Given the description of an element on the screen output the (x, y) to click on. 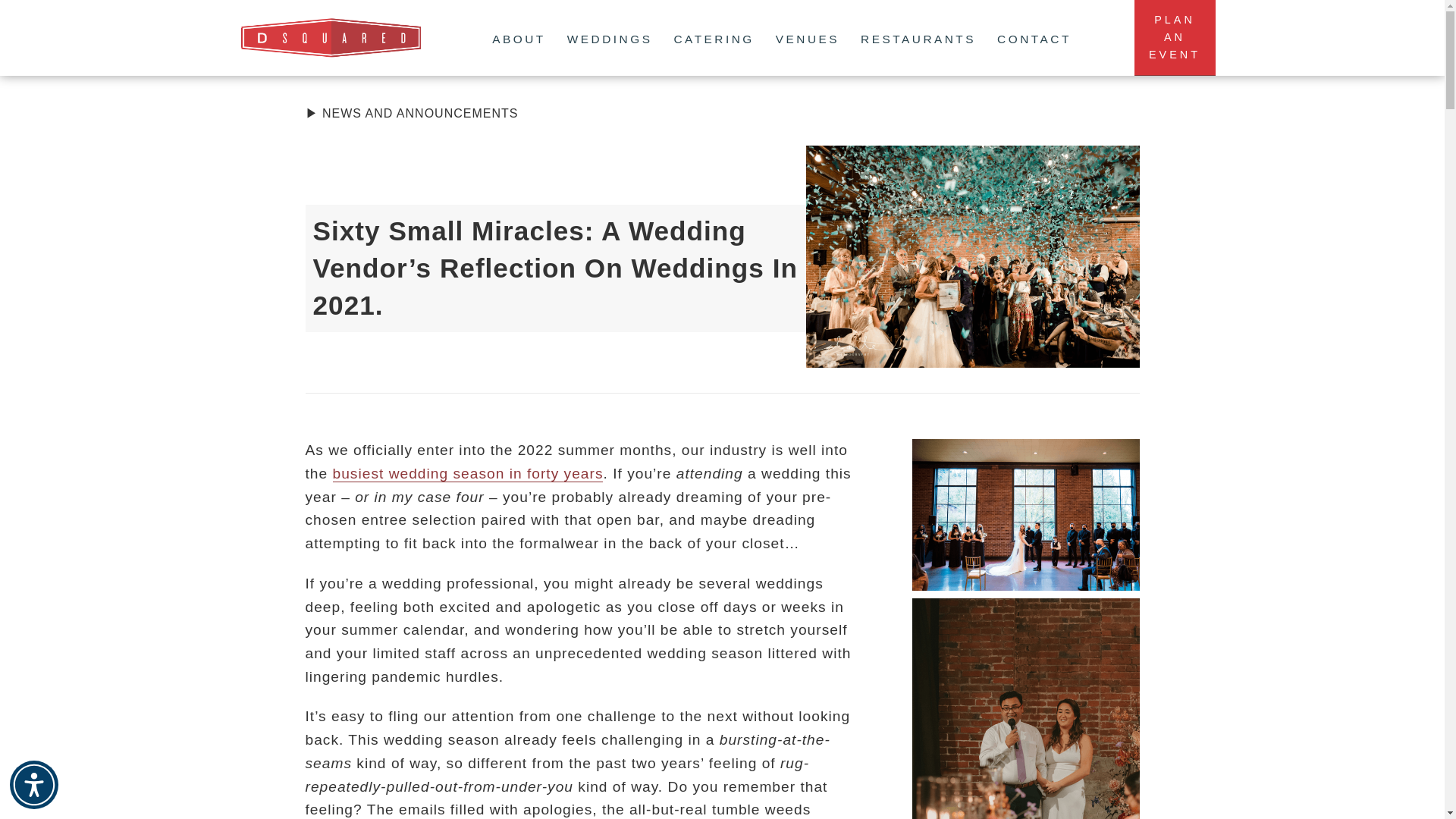
Accessibility Menu (34, 784)
busiest wedding season in forty years (1174, 38)
